Given the description of an element on the screen output the (x, y) to click on. 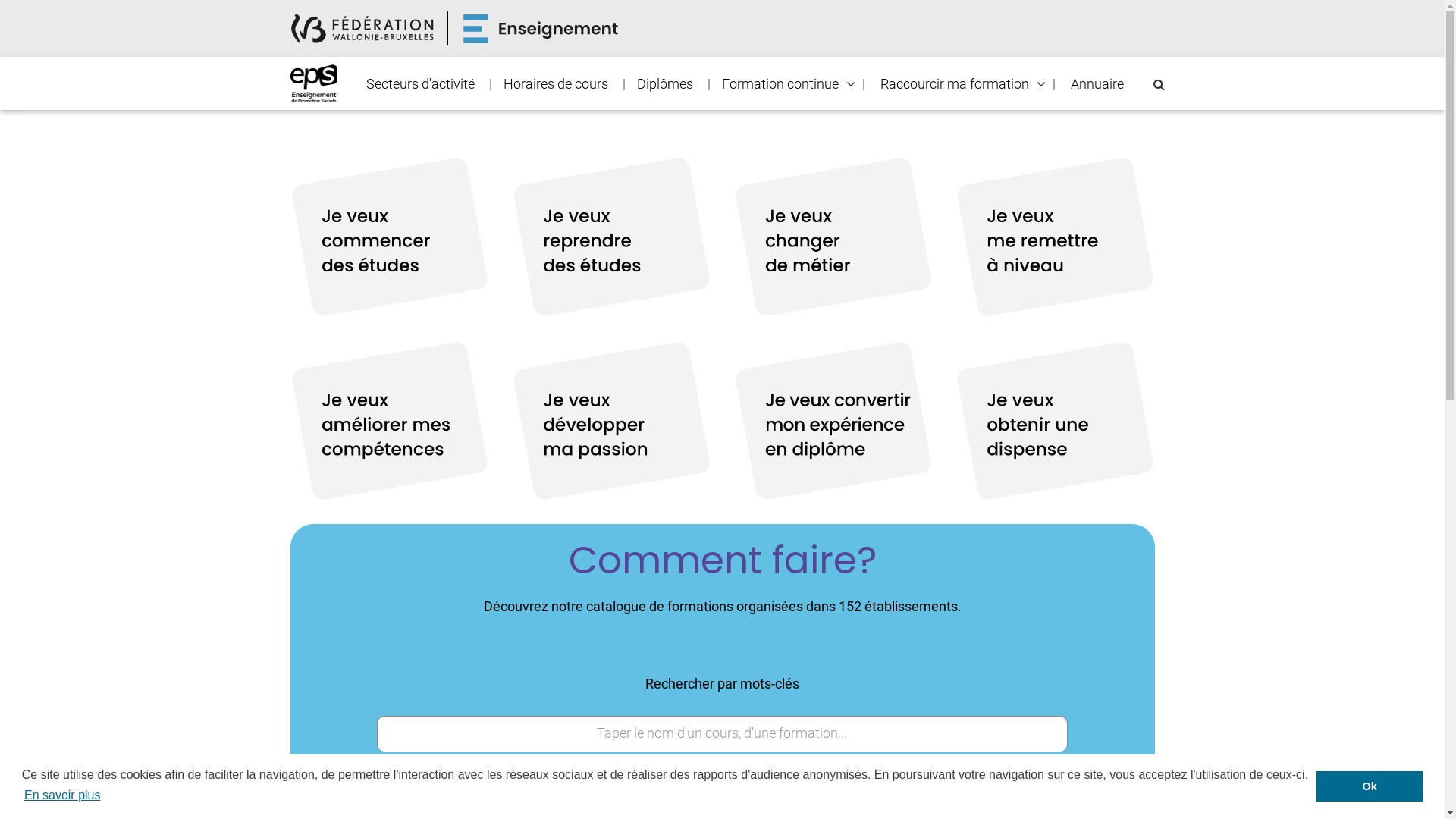
En savoir plus Element type: text (62, 795)
Formation continue Element type: text (779, 84)
Horaires de cours Element type: text (554, 84)
Ok Element type: text (1369, 786)
Rechercher sur le site Element type: text (1158, 84)
Recherche Element type: text (5, 11)
Annuaire Element type: text (1096, 84)
Raccourcir ma formation Element type: text (954, 84)
Je veux obtenir une dispence Element type: hover (1054, 421)
